Given the description of an element on the screen output the (x, y) to click on. 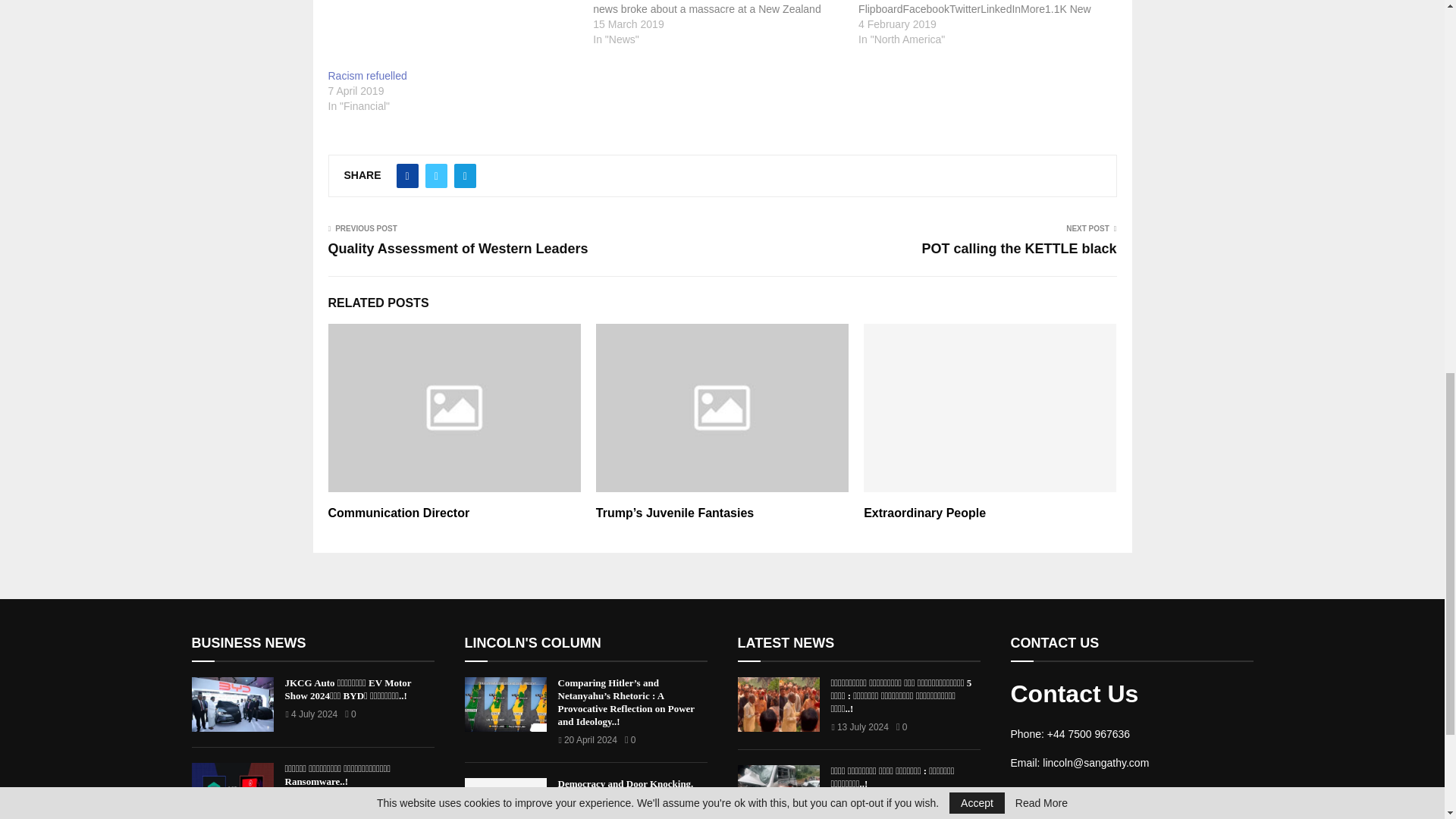
Racism refuelled (452, 33)
Racism refuelled (366, 75)
